Given the description of an element on the screen output the (x, y) to click on. 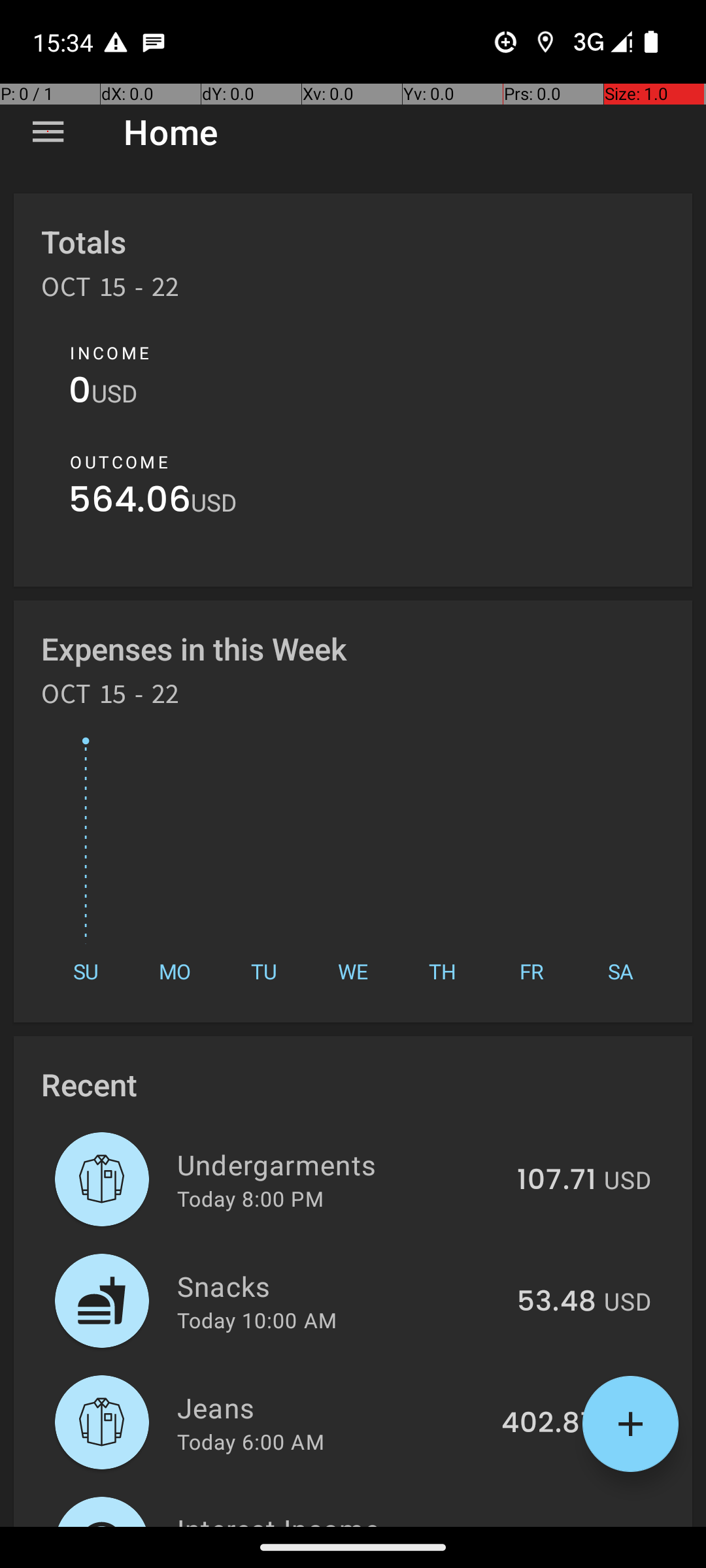
564.06 Element type: android.widget.TextView (129, 502)
Undergarments Element type: android.widget.TextView (339, 1164)
Today 8:00 PM Element type: android.widget.TextView (250, 1198)
107.71 Element type: android.widget.TextView (556, 1180)
Snacks Element type: android.widget.TextView (339, 1285)
Today 10:00 AM Element type: android.widget.TextView (256, 1320)
53.48 Element type: android.widget.TextView (556, 1301)
Jeans Element type: android.widget.TextView (331, 1407)
Today 6:00 AM Element type: android.widget.TextView (250, 1441)
402.87 Element type: android.widget.TextView (548, 1423)
Interest Income Element type: android.widget.TextView (332, 1518)
283.32 Element type: android.widget.TextView (549, 1524)
